Given the description of an element on the screen output the (x, y) to click on. 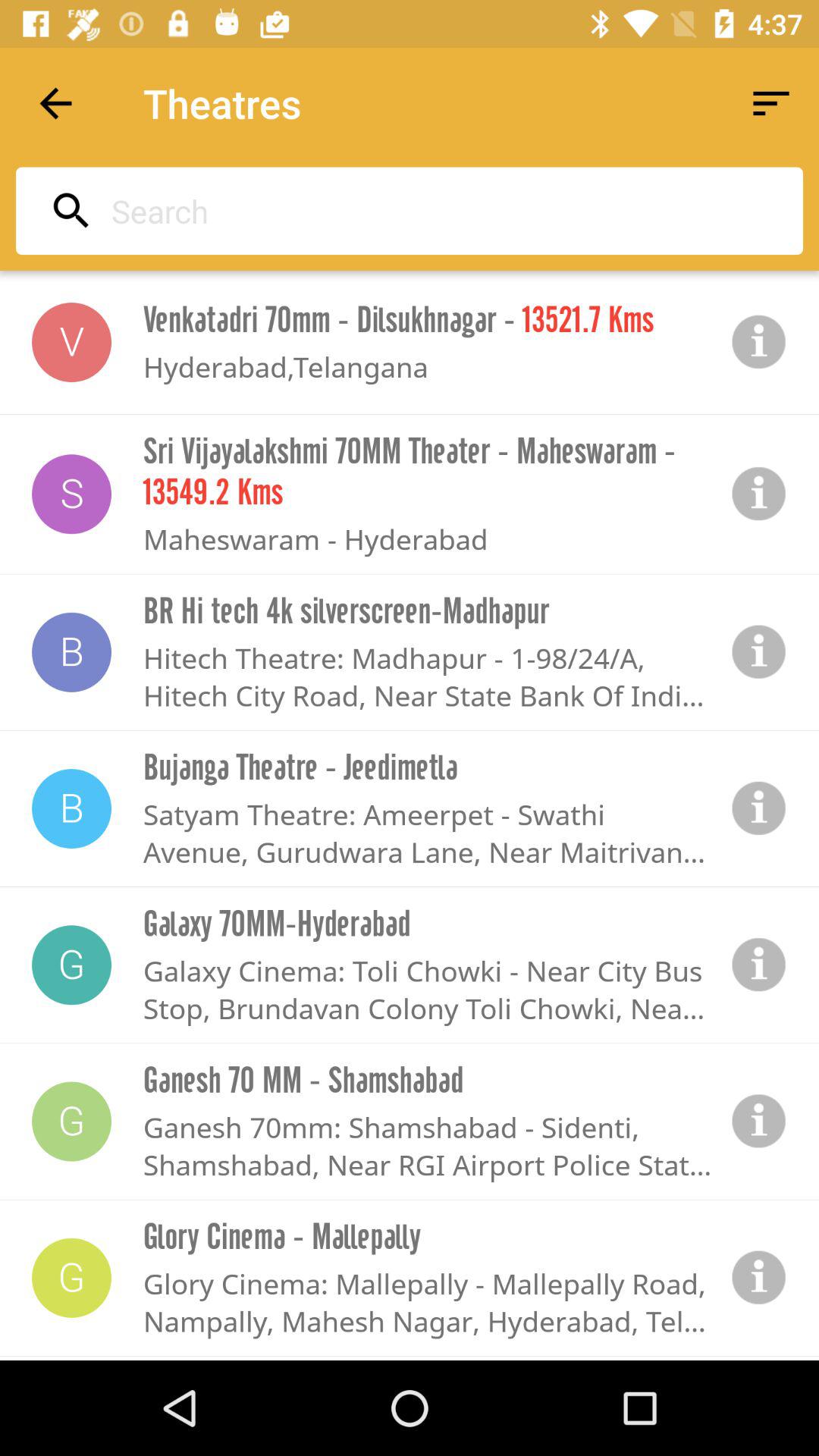
show information on item (759, 808)
